Given the description of an element on the screen output the (x, y) to click on. 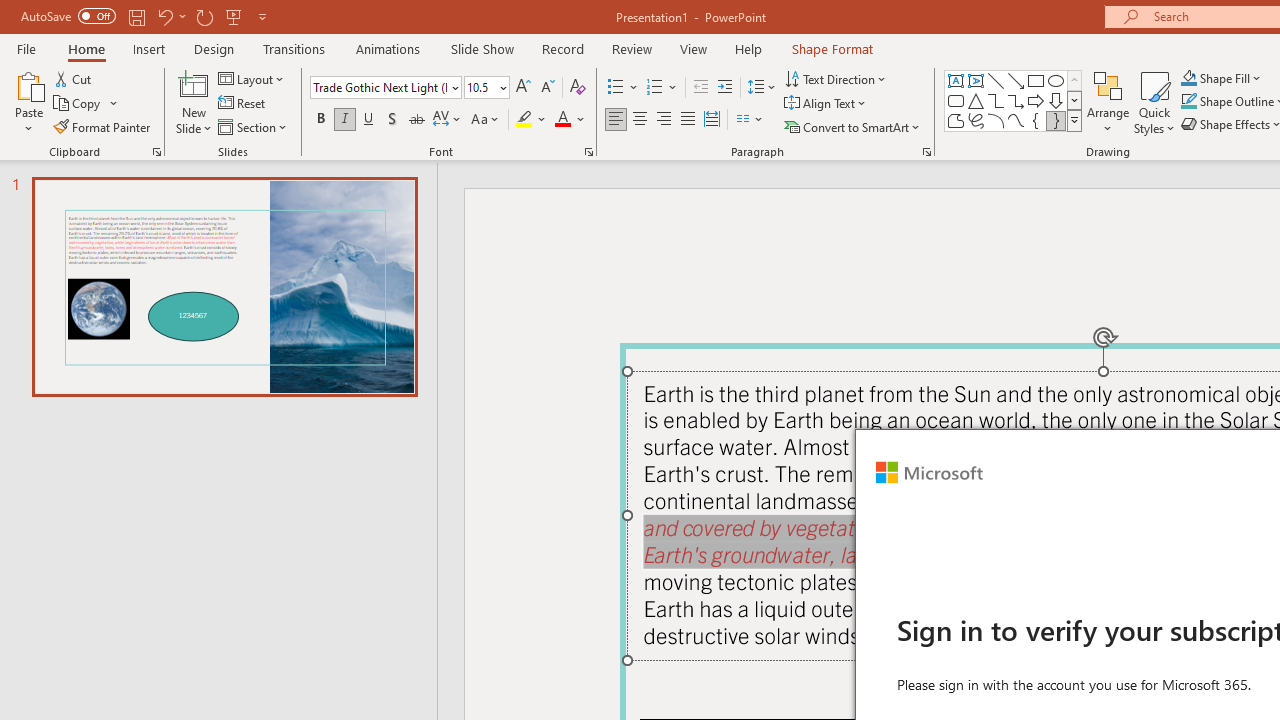
Section (254, 126)
Align Left (616, 119)
Clear Formatting (577, 87)
Office Clipboard... (156, 151)
Line Arrow (1016, 80)
Text Direction (836, 78)
Freeform: Shape (955, 120)
Italic (344, 119)
Center (639, 119)
